Given the description of an element on the screen output the (x, y) to click on. 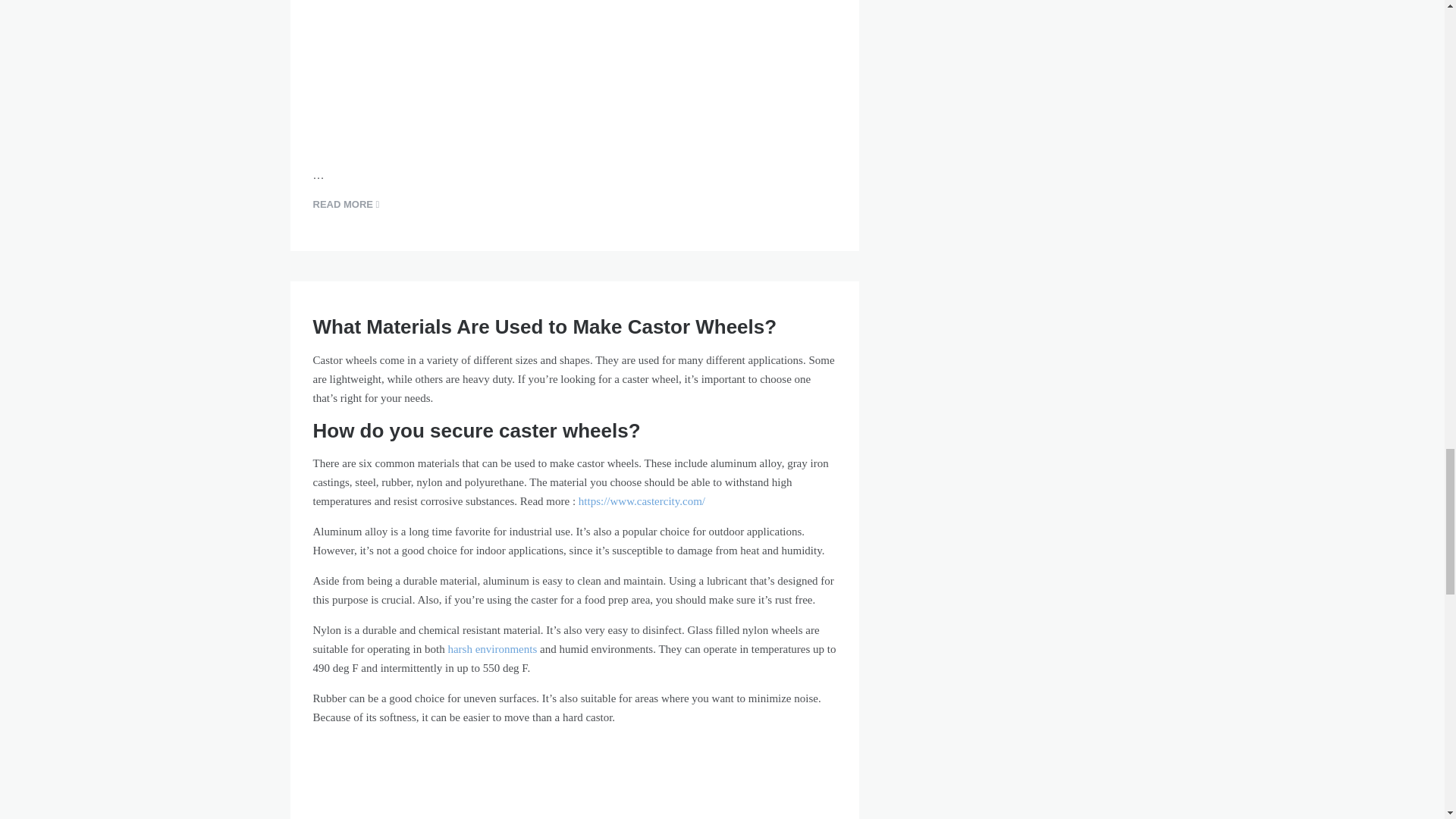
What Materials Are Used to Make Castor Wheels? (544, 326)
harsh environments (491, 648)
READ MORE (345, 204)
